Given the description of an element on the screen output the (x, y) to click on. 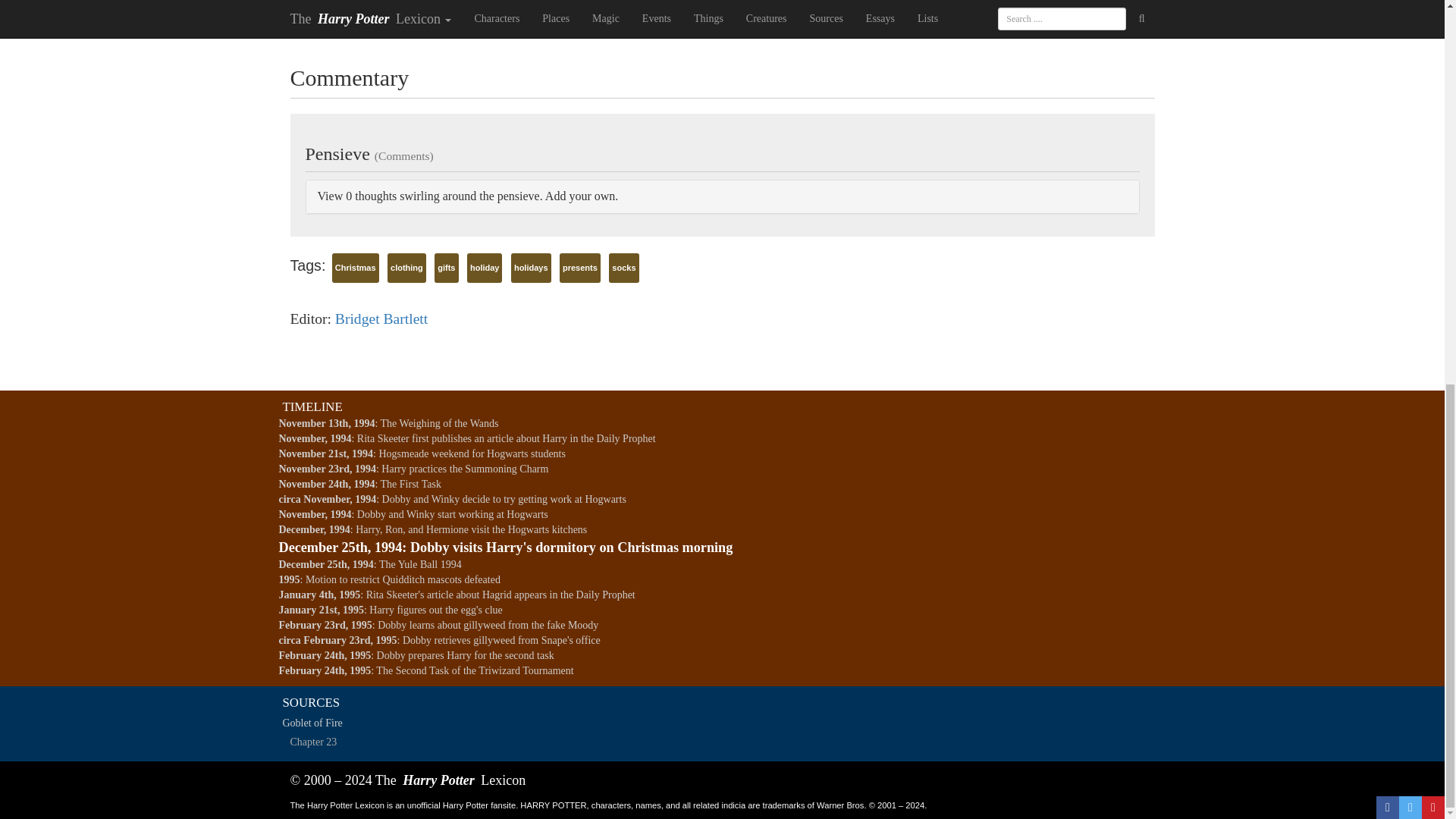
The Yule Ball (727, 742)
Harry Potter and the Goblet of Fire (722, 723)
